Given the description of an element on the screen output the (x, y) to click on. 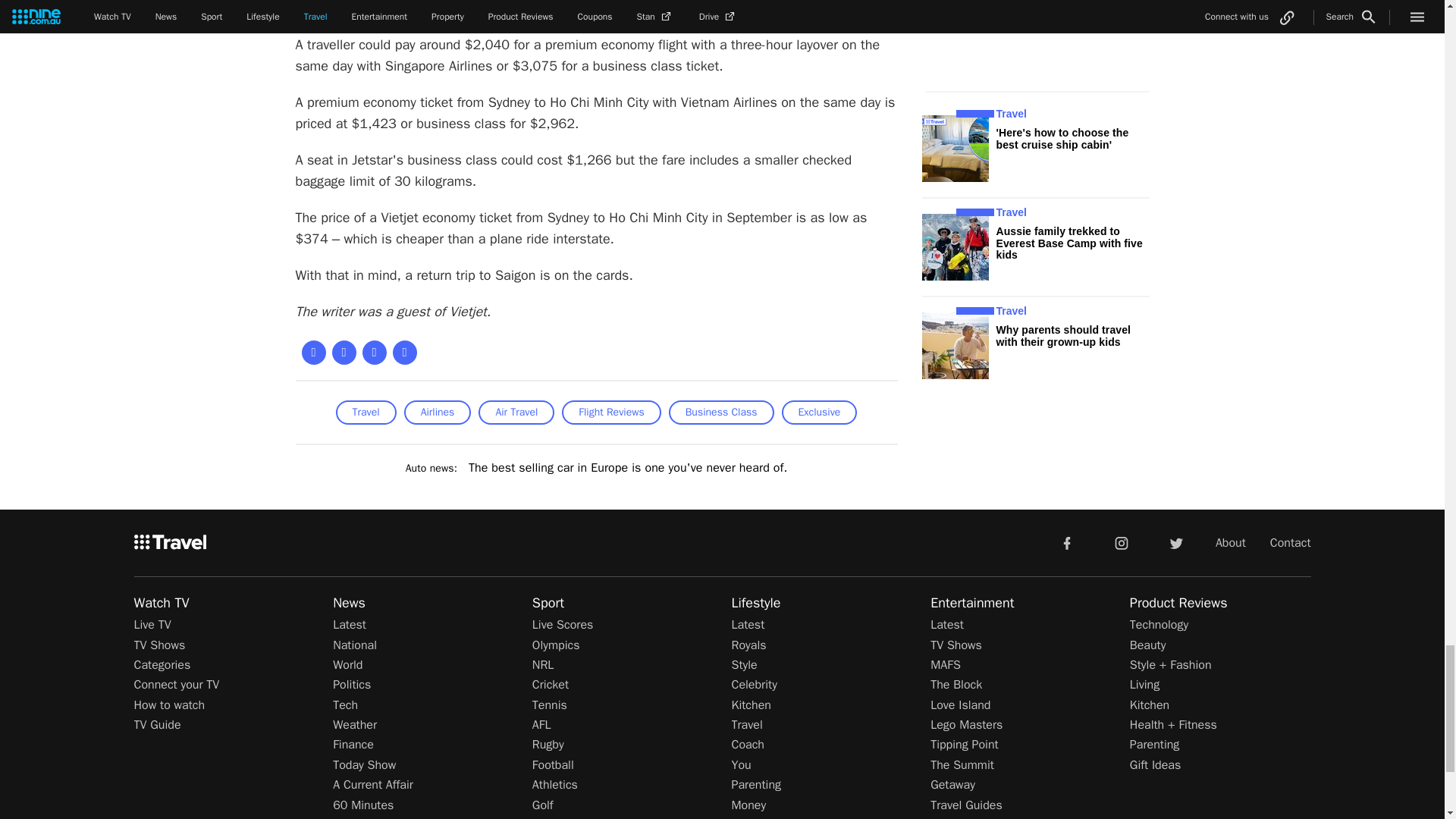
facebook (1066, 542)
twitter (1175, 542)
instagram (1121, 542)
